Given the description of an element on the screen output the (x, y) to click on. 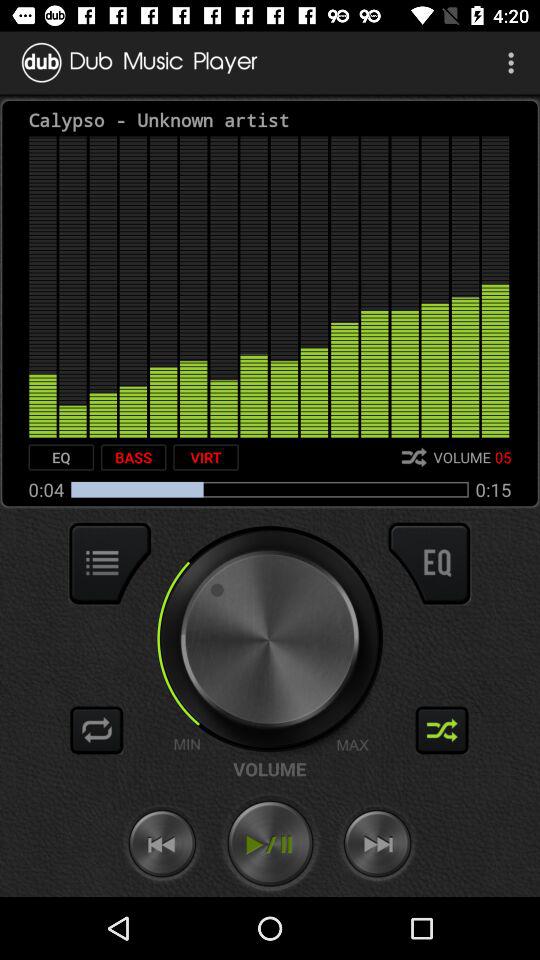
turn on the icon below the volume item (269, 843)
